Given the description of an element on the screen output the (x, y) to click on. 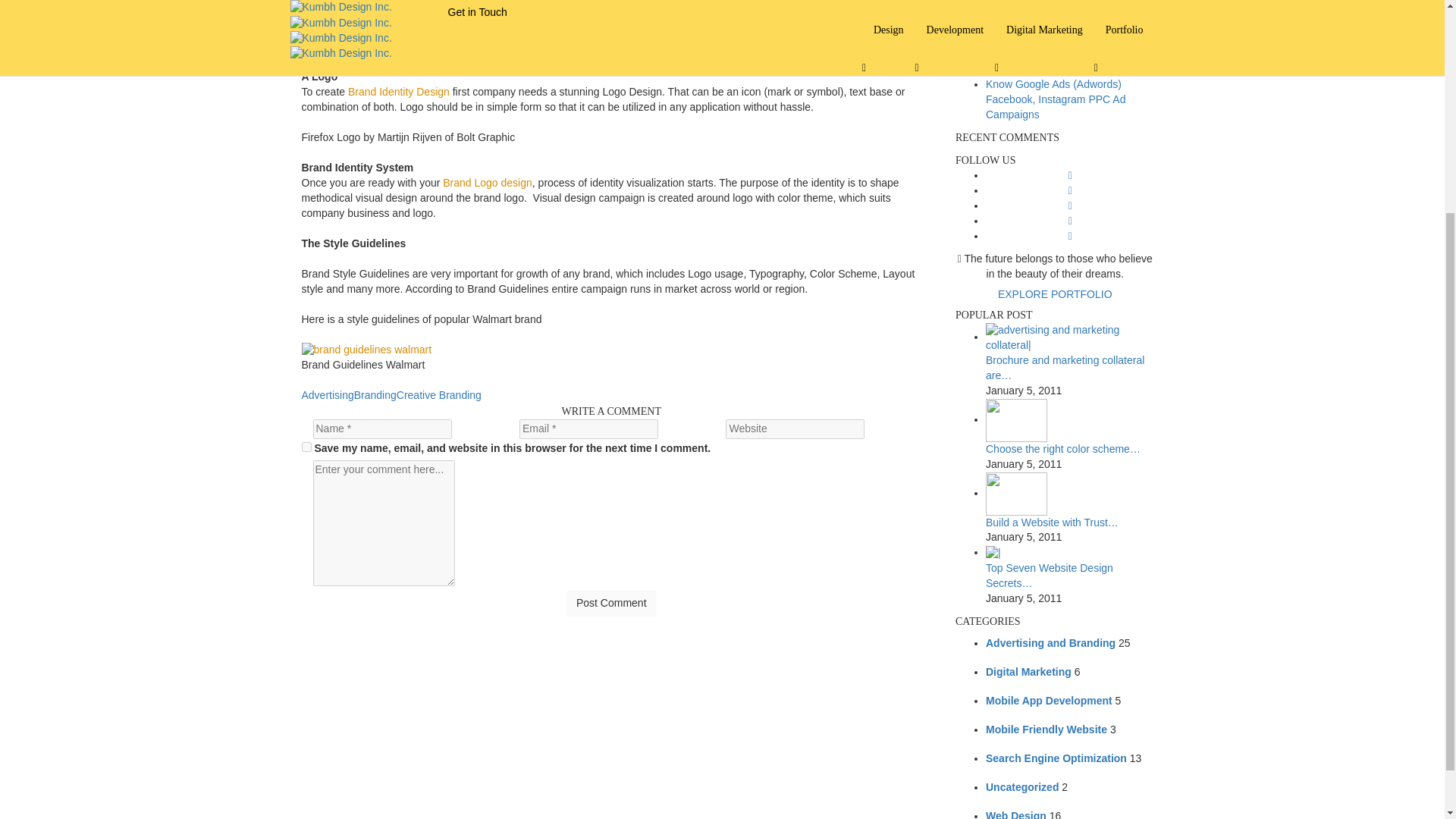
yes (306, 447)
Post Comment (611, 603)
